Given the description of an element on the screen output the (x, y) to click on. 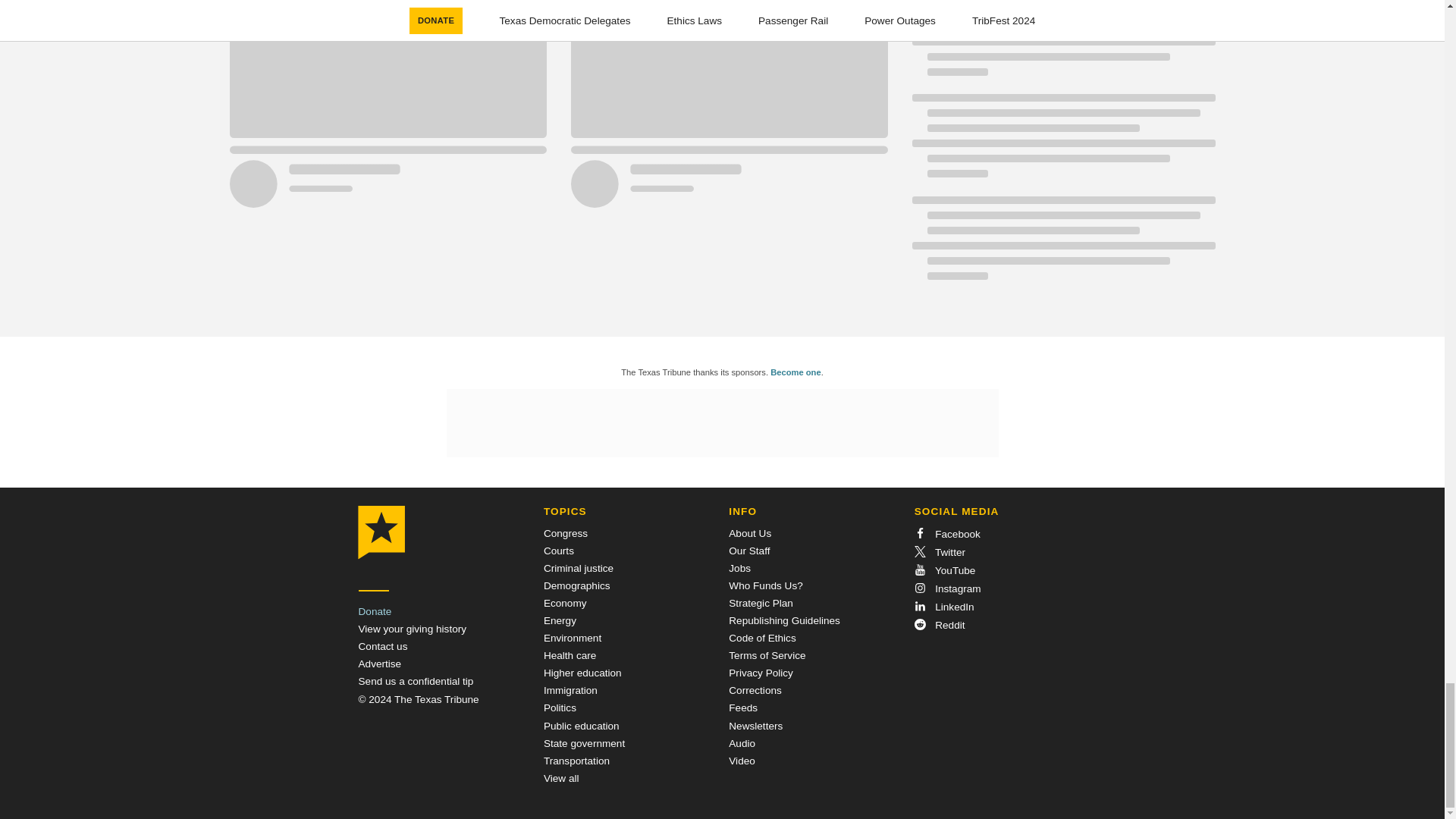
Audio (742, 743)
Newsletters (756, 726)
About Us (750, 532)
Who Funds Us? (765, 585)
Send a Tip (415, 681)
Strategic Plan (761, 603)
View your giving history (411, 628)
Corrections (755, 690)
Contact us (382, 645)
Advertise (379, 663)
Donate (374, 611)
Republishing Guidelines (784, 620)
Privacy Policy (761, 672)
Feeds (743, 707)
Video (742, 760)
